Given the description of an element on the screen output the (x, y) to click on. 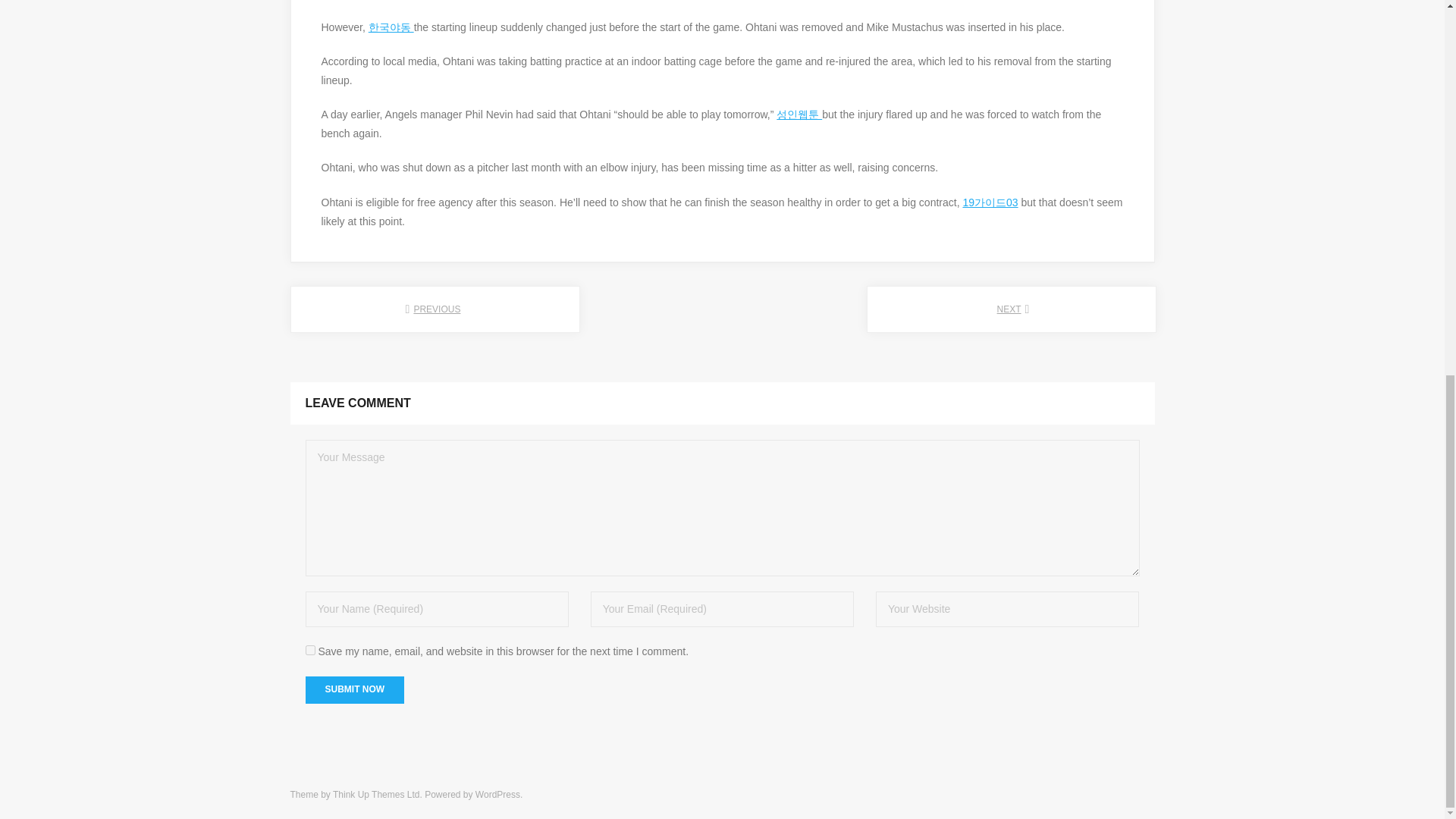
yes (309, 650)
Submit Now (354, 689)
Think Up Themes Ltd (376, 794)
PREVIOUS (434, 308)
Submit Now (354, 689)
WordPress (497, 794)
NEXT (1011, 308)
